Given the description of an element on the screen output the (x, y) to click on. 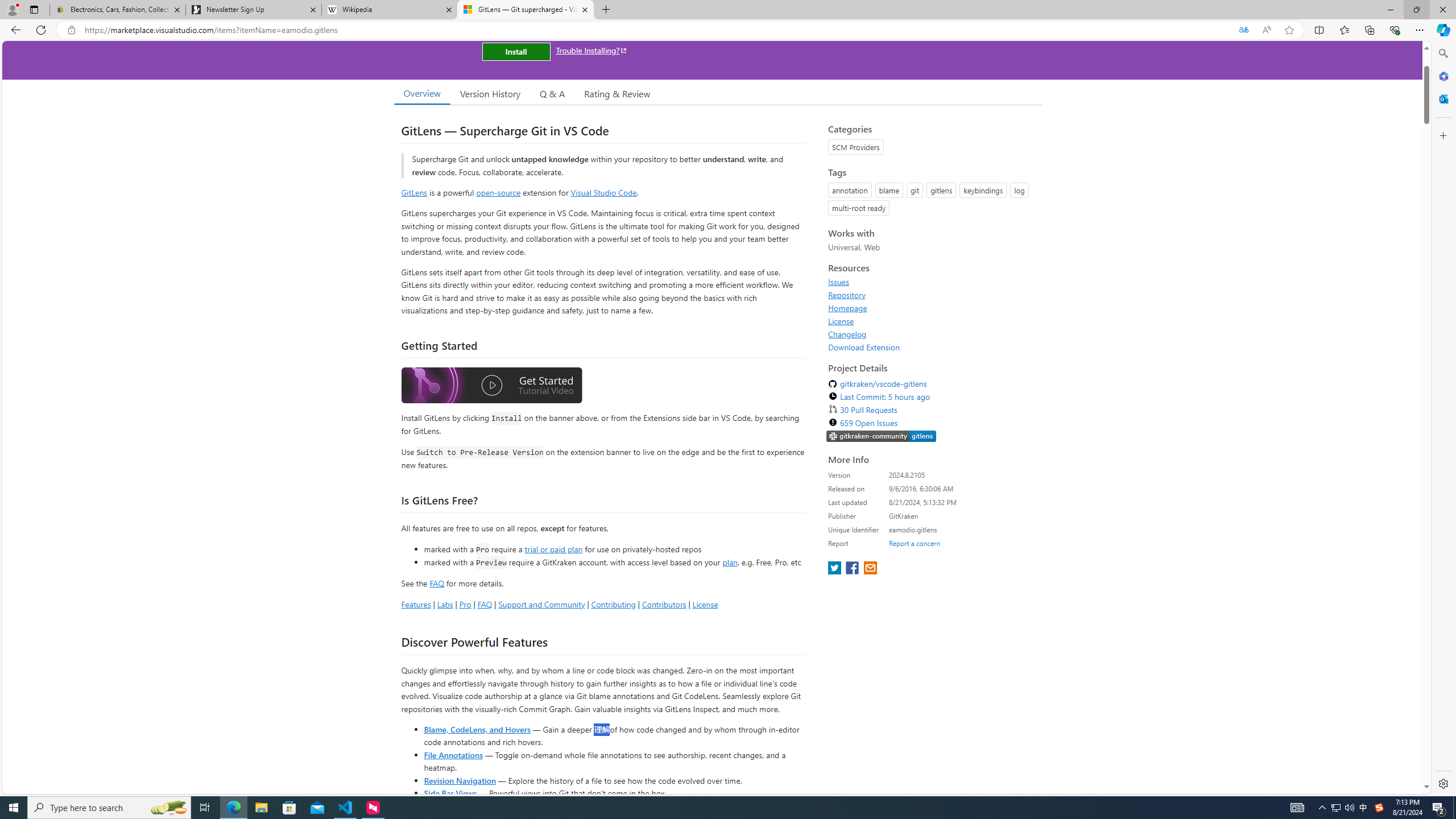
Watch the GitLens Getting Started video (491, 387)
Download Extension (863, 346)
share extension on twitter (835, 568)
Changelog (931, 333)
Issues (931, 281)
FAQ (484, 603)
Changelog (847, 333)
Repository (931, 294)
Revision Navigation (459, 780)
